Given the description of an element on the screen output the (x, y) to click on. 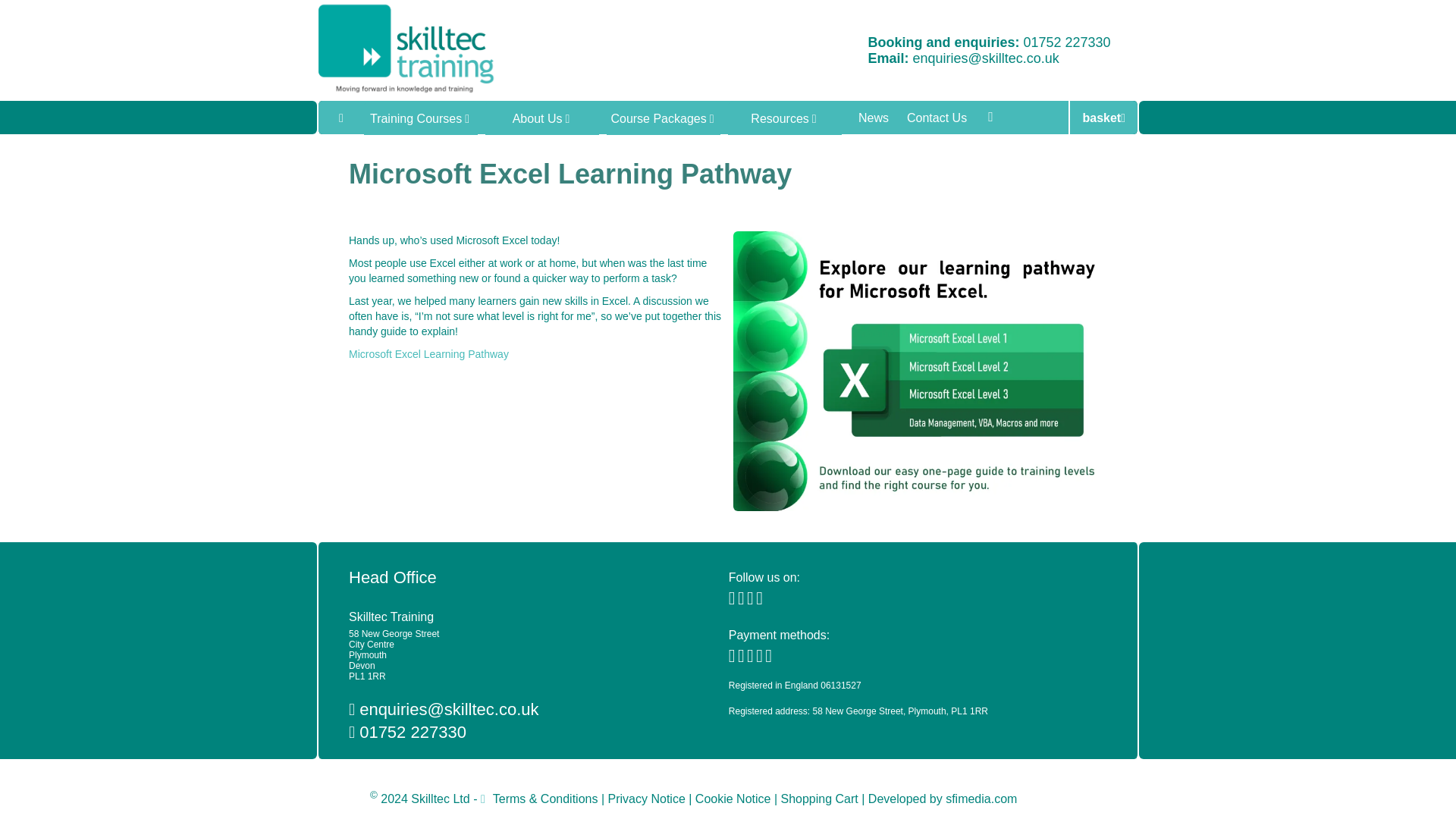
Skilltec Training logo (413, 48)
Microsoft Excel Learning Pathway (428, 354)
Go to the Shopping Cart page (822, 797)
Go to the Privacy Notice page (650, 797)
Go to the Cookie Notice page (736, 797)
